Given the description of an element on the screen output the (x, y) to click on. 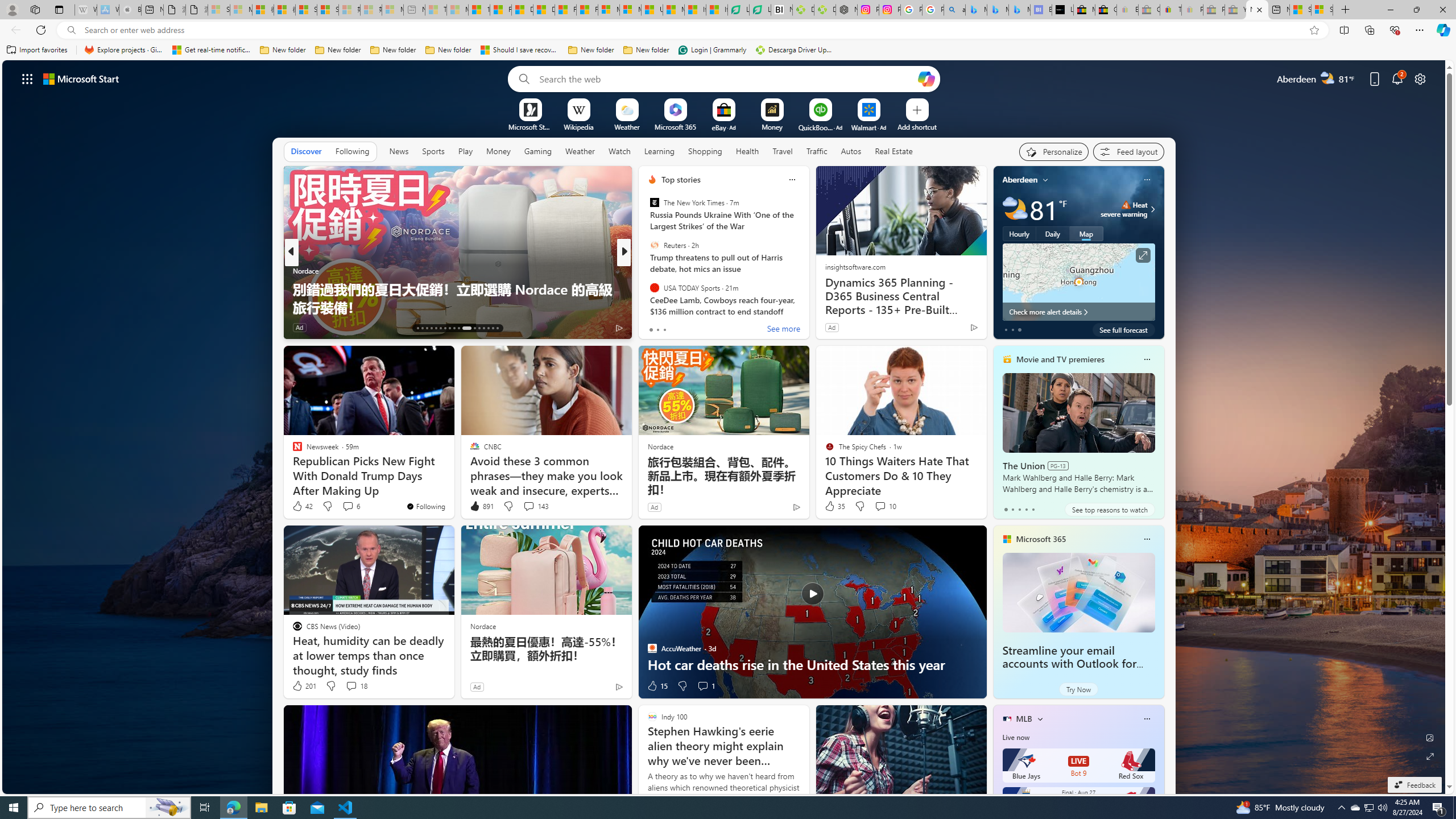
View comments 10 Comment (885, 505)
Hide this story (597, 359)
Edit Background (1430, 737)
Check more alert details (1077, 311)
Add a site (916, 126)
Microsoft Services Agreement - Sleeping (241, 9)
Streamline your email accounts with Outlook for Windows (1069, 664)
Wikipedia - Sleeping (85, 9)
Sign in to your Microsoft account - Sleeping (218, 9)
AutomationID: backgroundImagePicture (723, 426)
Feed settings (1128, 151)
